Given the description of an element on the screen output the (x, y) to click on. 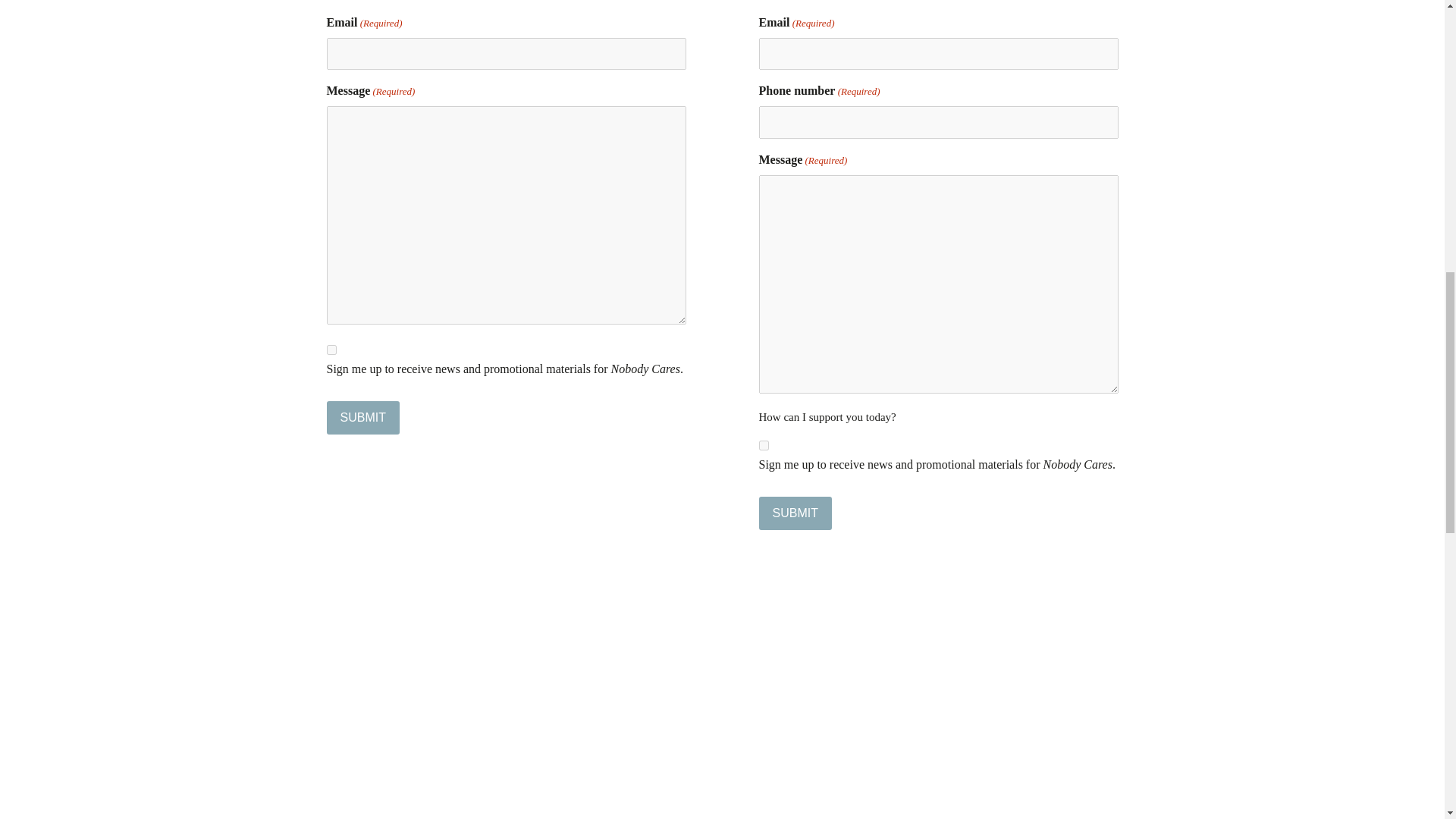
Submit (362, 417)
1 (331, 349)
Submit (794, 512)
Submit (794, 512)
1 (763, 445)
Submit (362, 417)
